Given the description of an element on the screen output the (x, y) to click on. 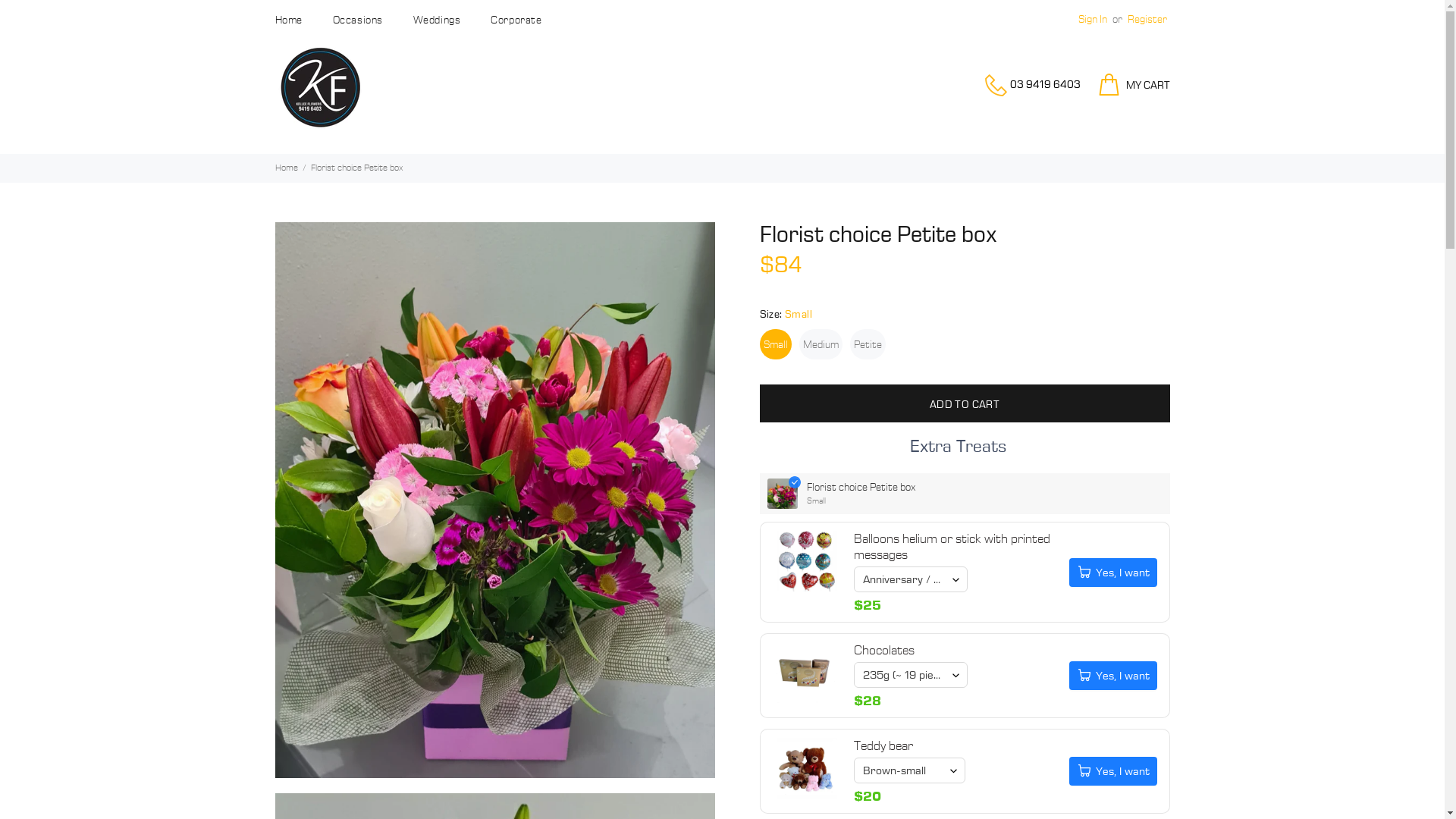
Home Element type: text (295, 19)
Sign In Element type: text (1092, 18)
Small Element type: text (775, 344)
Yes, I want Element type: text (1113, 572)
MY CART Element type: text (1128, 84)
Medium Element type: text (820, 344)
Register Element type: text (1146, 18)
Yes, I want Element type: text (1113, 675)
Weddings Element type: text (436, 19)
Petite Element type: text (866, 344)
Home Element type: text (285, 167)
Corporate Element type: text (508, 19)
Occasions Element type: text (357, 19)
Yes, I want Element type: text (1113, 770)
ADD TO CART Element type: text (964, 403)
